Given the description of an element on the screen output the (x, y) to click on. 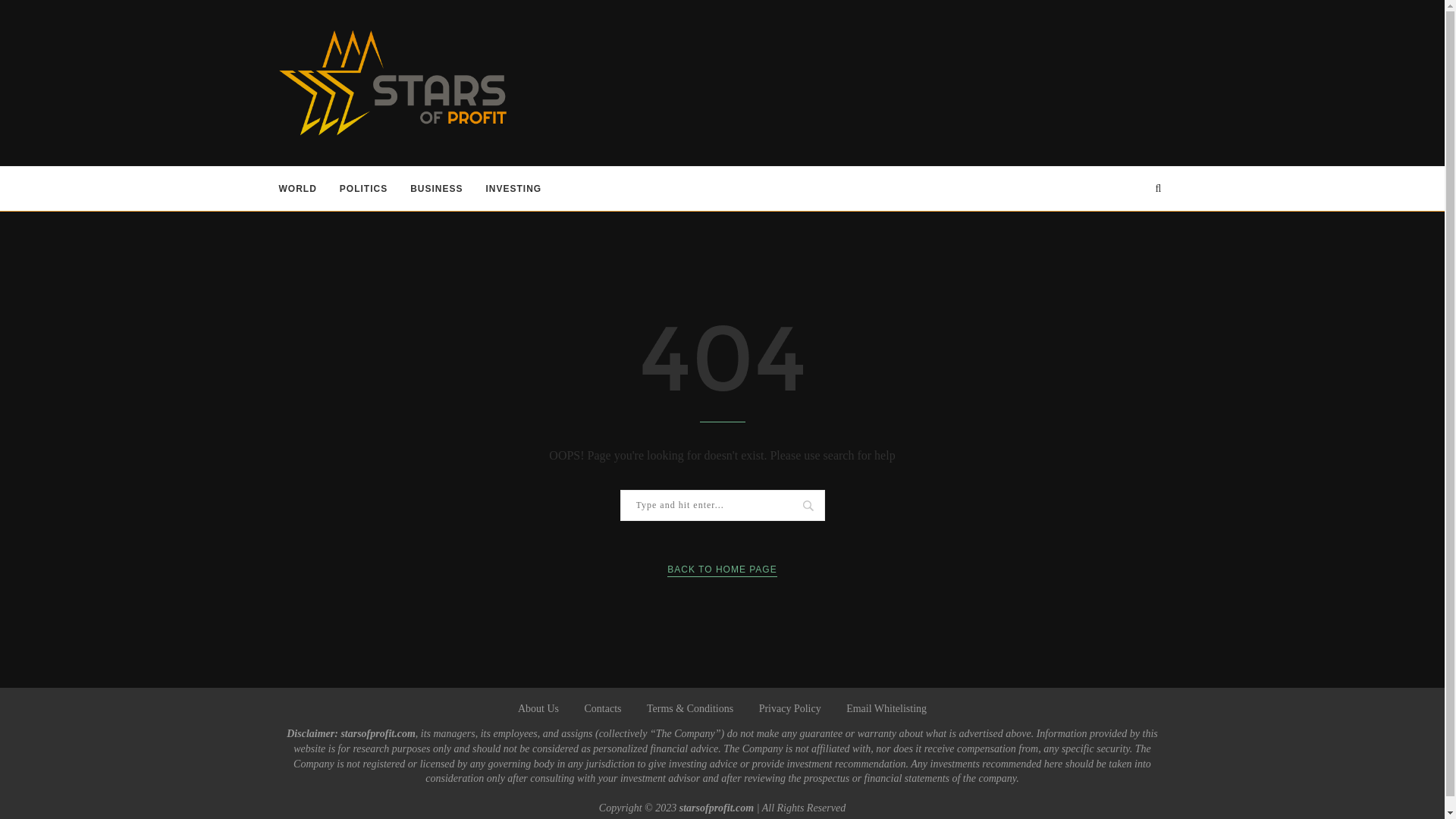
Contacts (602, 708)
Privacy Policy (789, 708)
Email Whitelisting (885, 708)
BUSINESS (436, 188)
About Us (538, 708)
POLITICS (363, 188)
INVESTING (513, 188)
BACK TO HOME PAGE (721, 569)
